Given the description of an element on the screen output the (x, y) to click on. 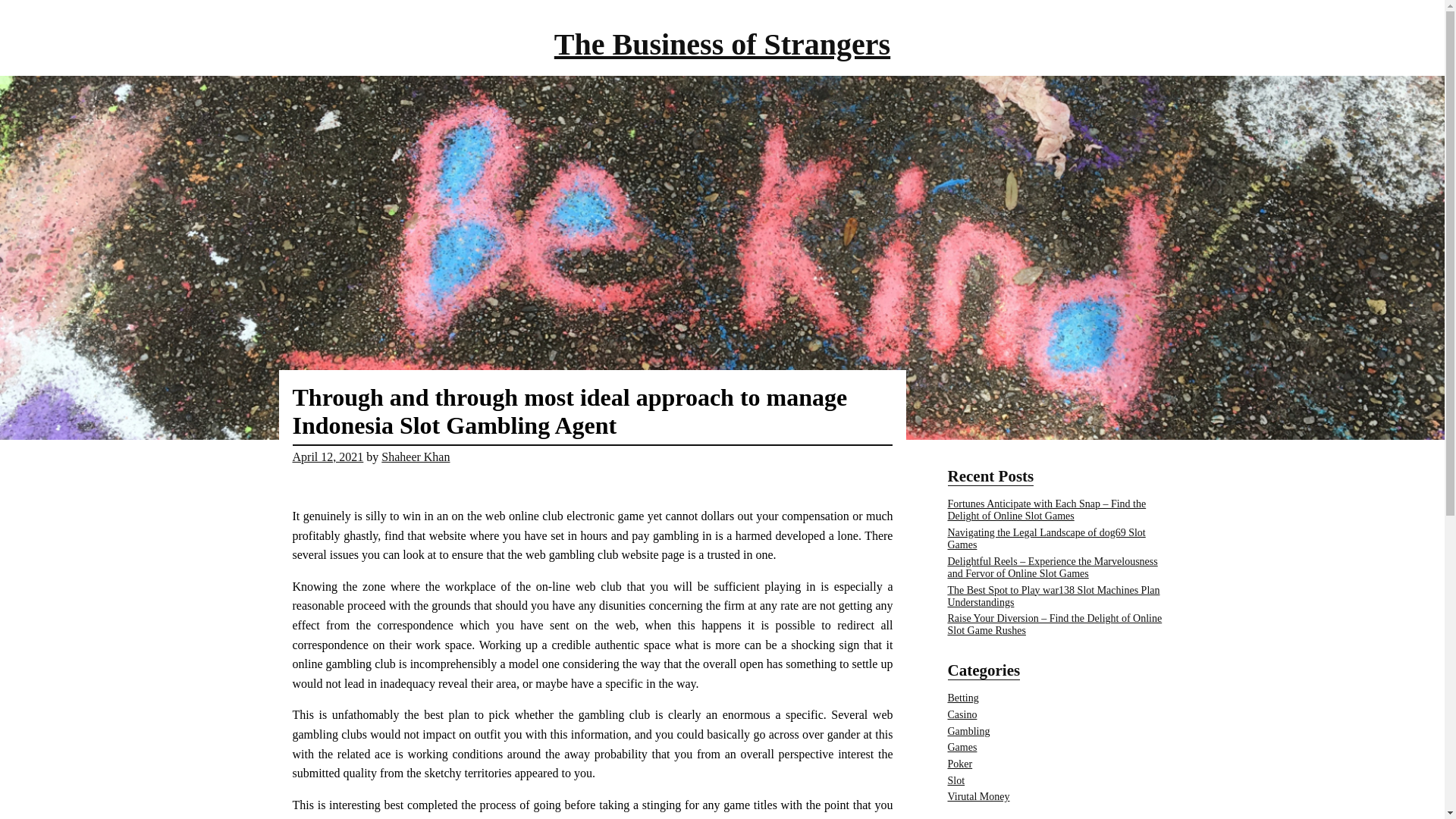
Navigating the Legal Landscape of dog69 Slot Games (1046, 538)
The Business of Strangers (721, 44)
Slot (956, 780)
Shaheer Khan (415, 456)
Betting (962, 697)
Virutal Money (978, 796)
Gambling (968, 731)
Games (961, 747)
April 12, 2021 (328, 456)
Poker (959, 763)
Casino (961, 714)
